Given the description of an element on the screen output the (x, y) to click on. 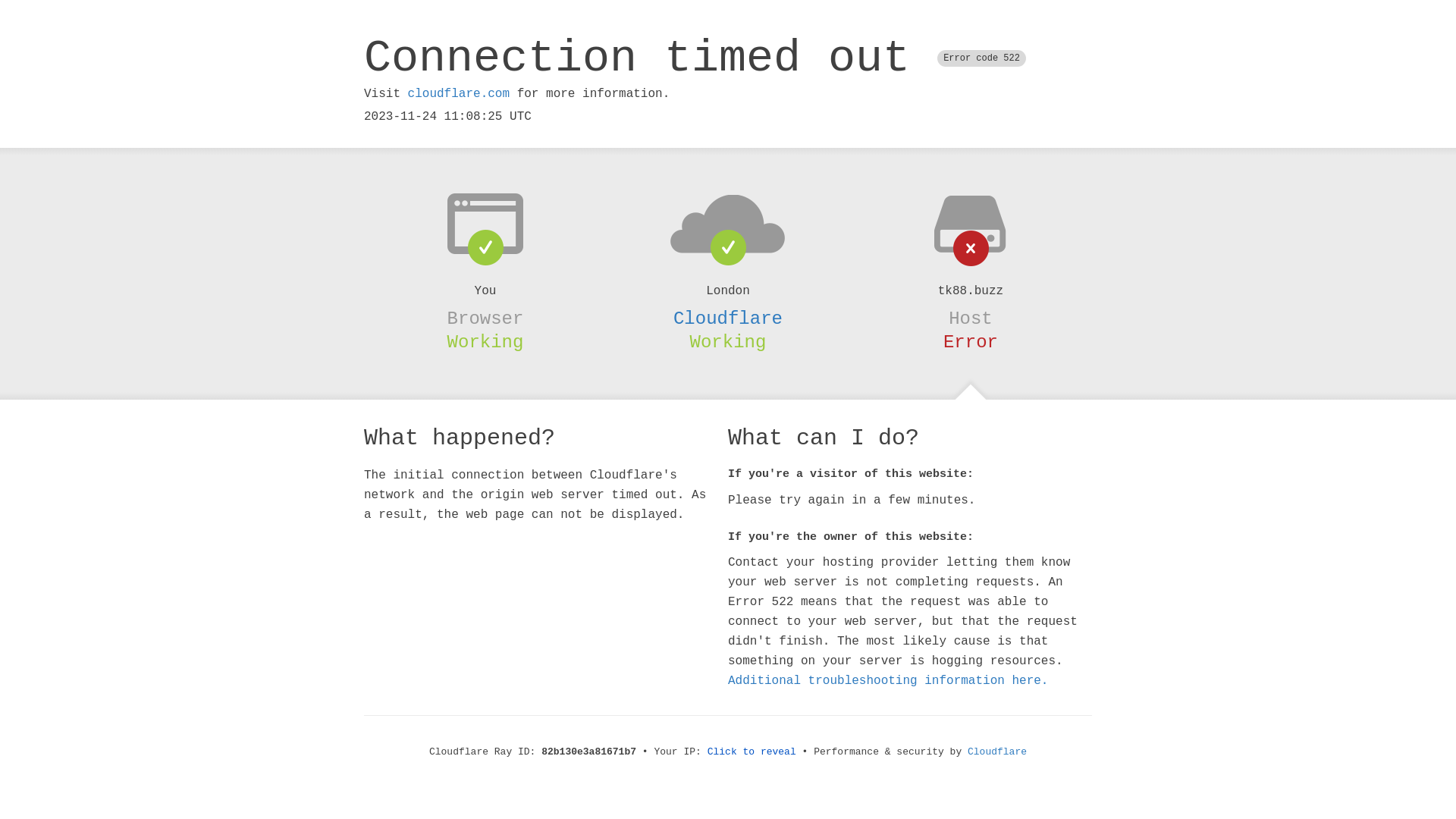
Cloudflare Element type: text (727, 318)
Additional troubleshooting information here. Element type: text (888, 680)
Cloudflare Element type: text (996, 751)
cloudflare.com Element type: text (458, 93)
Click to reveal Element type: text (751, 751)
